Given the description of an element on the screen output the (x, y) to click on. 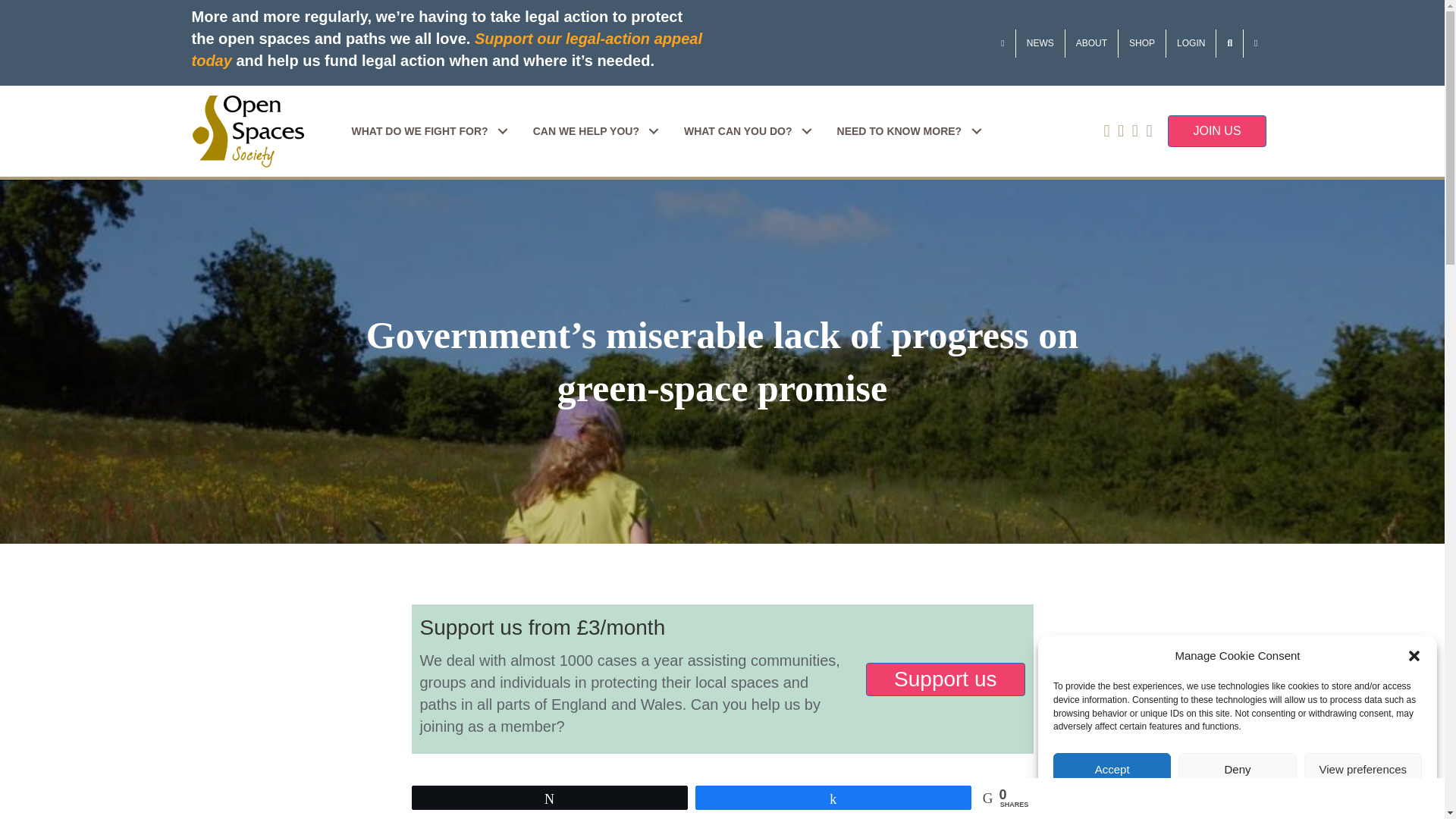
Search (1229, 43)
SHOP (1142, 43)
Open Spaces Society Logo (247, 131)
LOGIN (1190, 43)
Support our legal-action appeal today (445, 49)
ABOUT (1091, 43)
NEWS (1040, 43)
